Given the description of an element on the screen output the (x, y) to click on. 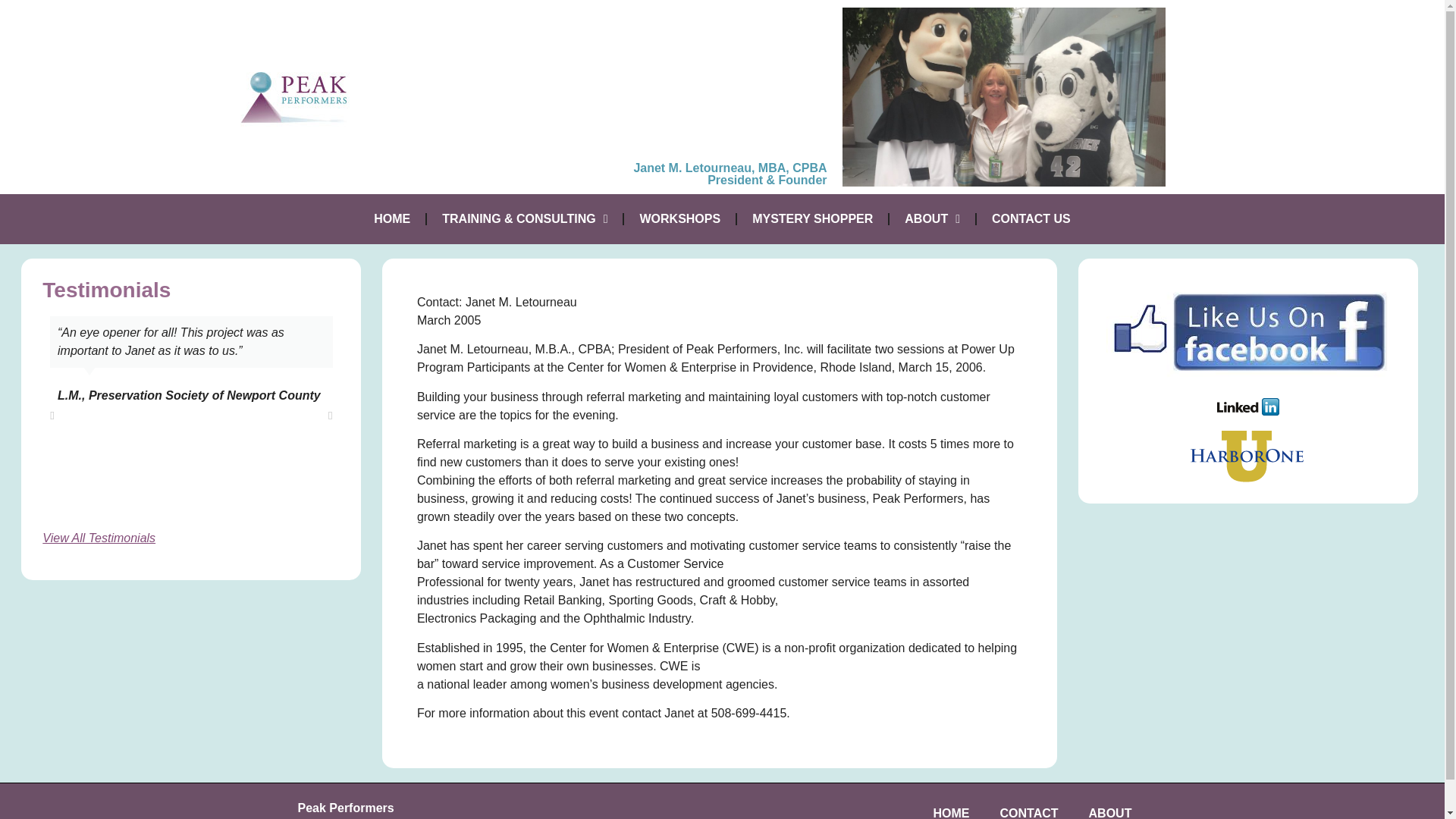
CONTACT US (1031, 218)
ABOUT (1110, 807)
MYSTERY SHOPPER (812, 218)
ABOUT (932, 218)
CONTACT (1028, 807)
HOME (950, 807)
HOME (391, 218)
View All Testimonials (98, 537)
WORKSHOPS (679, 218)
